Given the description of an element on the screen output the (x, y) to click on. 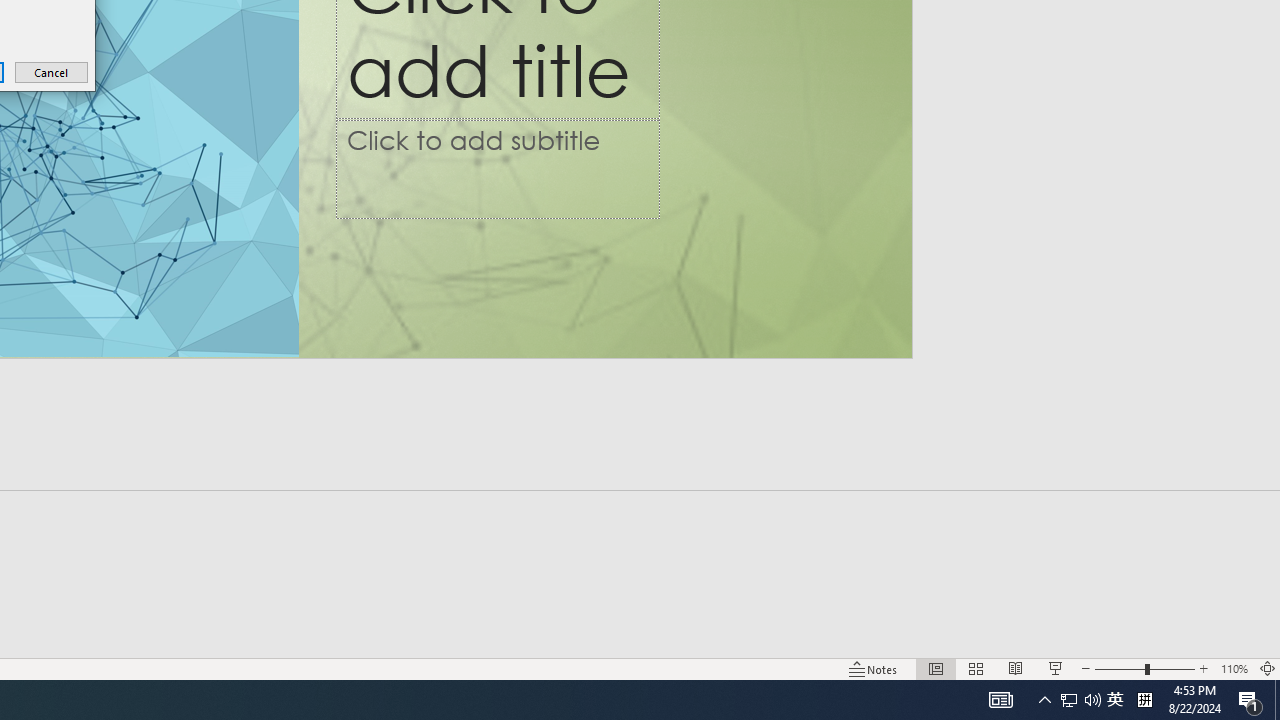
Action Center, 1 new notification (1250, 699)
